Given the description of an element on the screen output the (x, y) to click on. 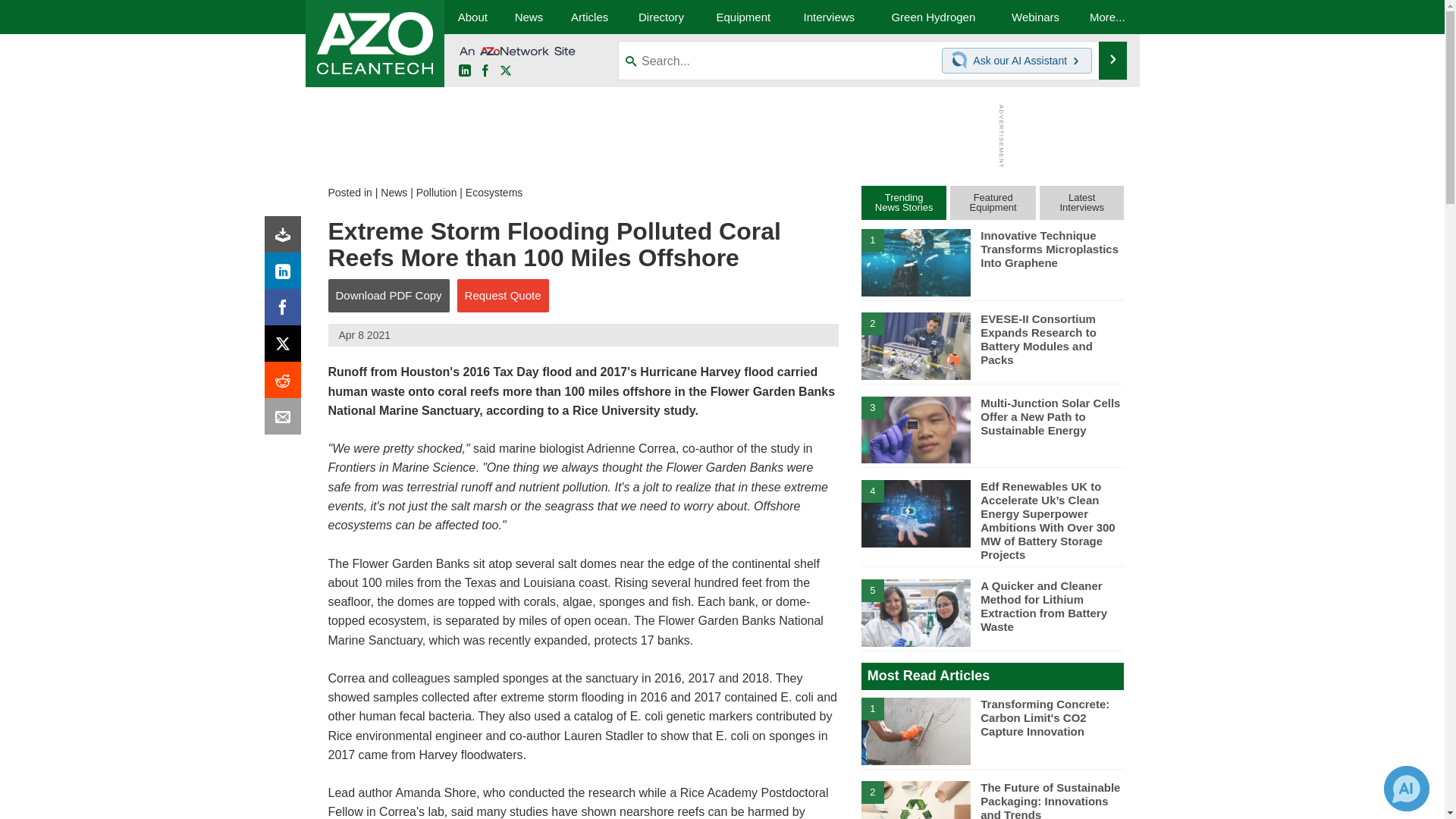
Webinars (1035, 17)
More... (1106, 17)
News (528, 17)
Pollution (436, 192)
LinkedIn (285, 275)
Directory (660, 17)
X (285, 348)
LinkedIn (464, 71)
Email (285, 420)
